Given the description of an element on the screen output the (x, y) to click on. 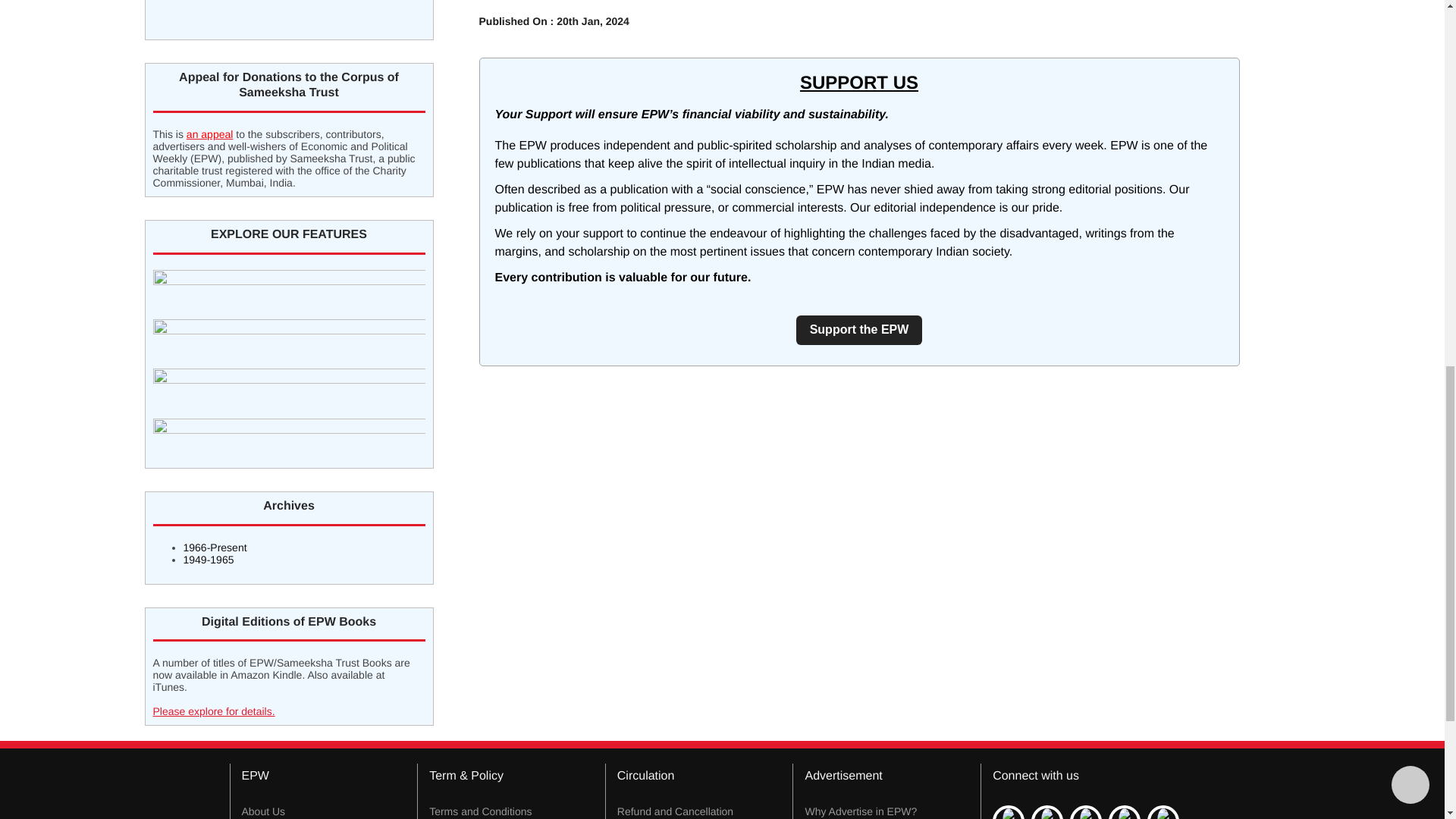
Support the EPW (859, 329)
